Given the description of an element on the screen output the (x, y) to click on. 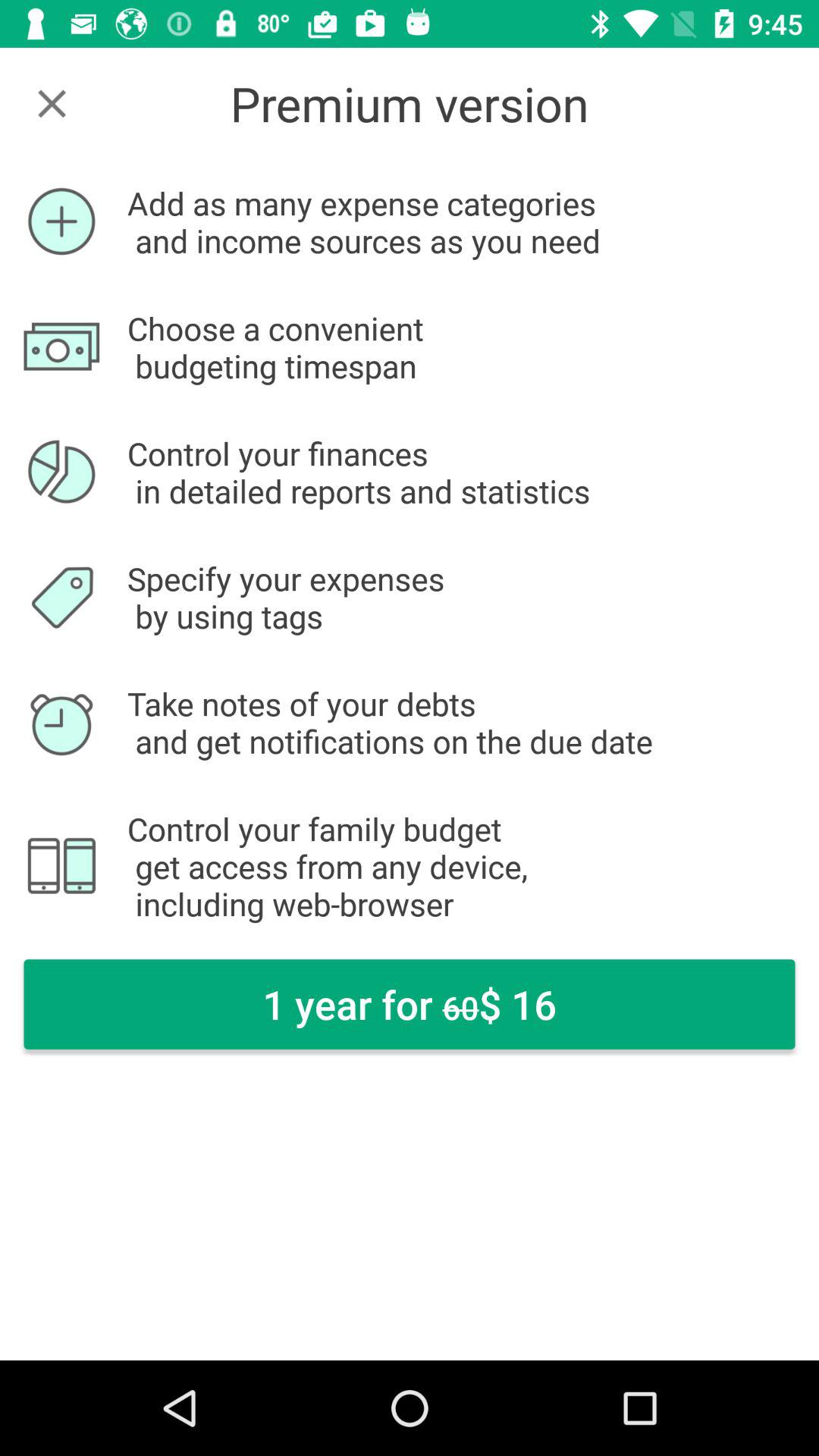
press icon above the add as many (51, 103)
